Given the description of an element on the screen output the (x, y) to click on. 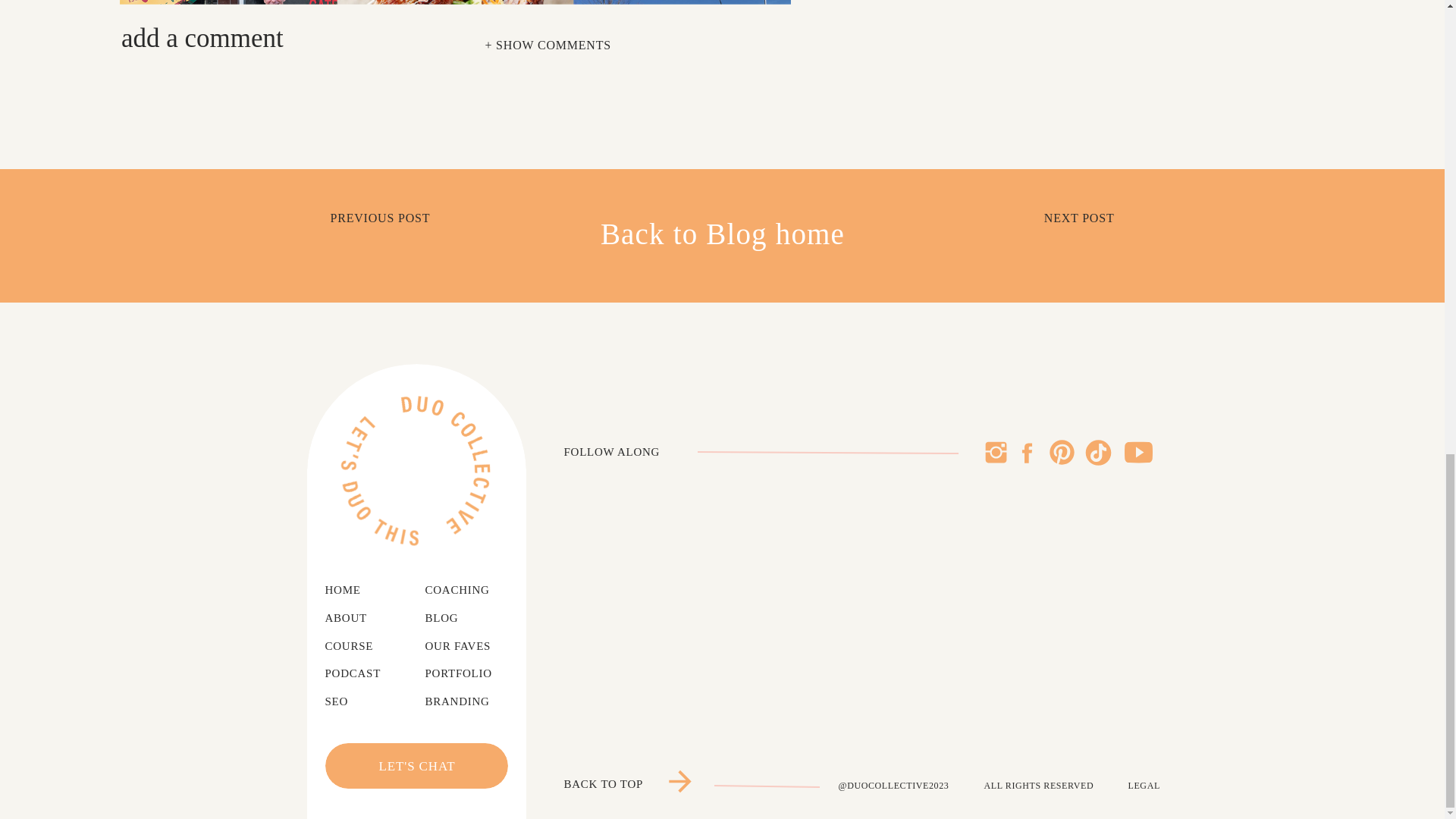
OUR FAVES (468, 646)
COACHING (470, 590)
HOME (351, 590)
COURSE (358, 646)
LoveJoys Bloody Mix  (234, 514)
ABOUT (355, 618)
BRANDING (468, 701)
Back to Blog home (722, 235)
BLOG (446, 618)
